Given the description of an element on the screen output the (x, y) to click on. 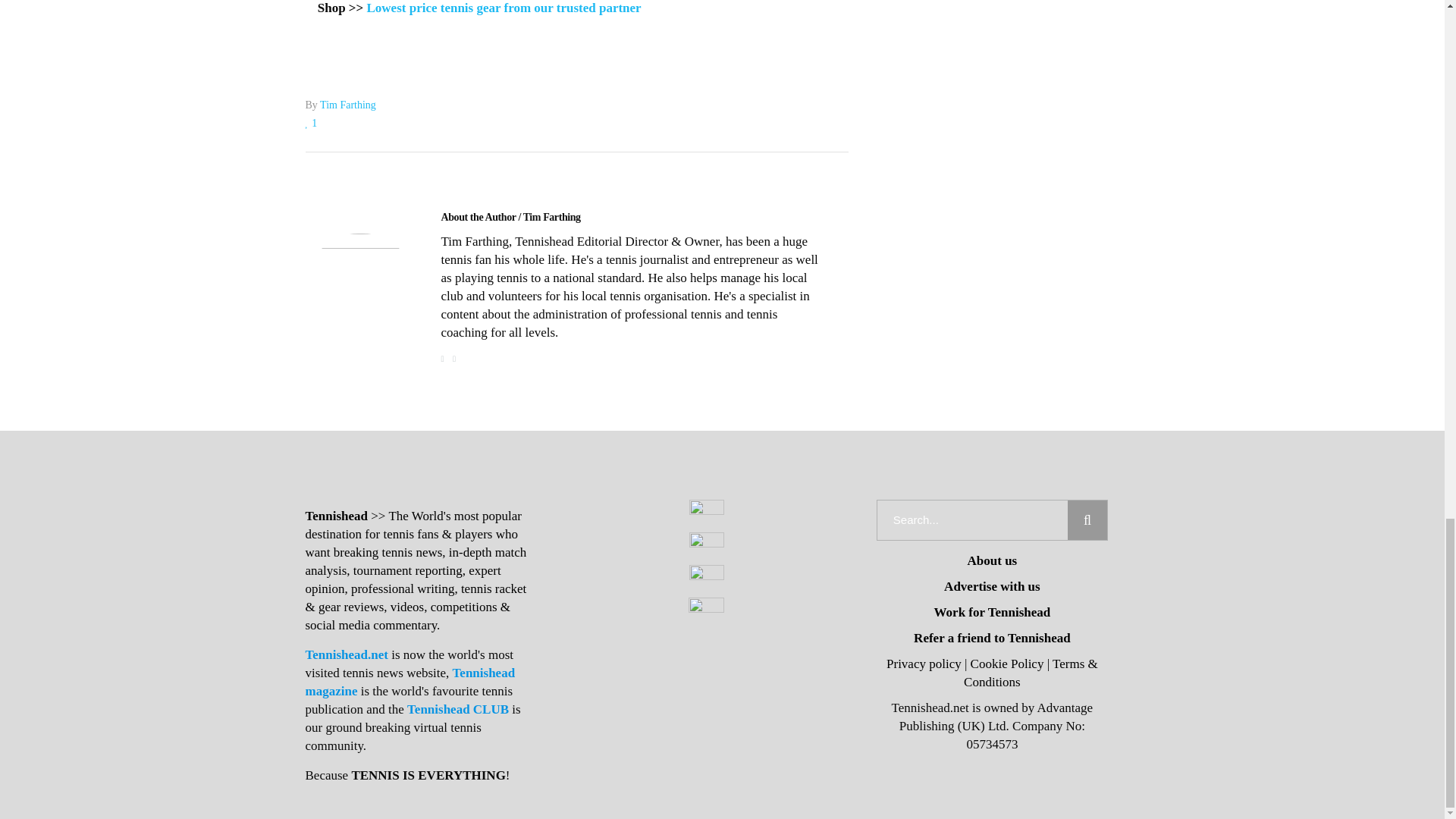
Like this (310, 122)
Search for: (972, 519)
